Given the description of an element on the screen output the (x, y) to click on. 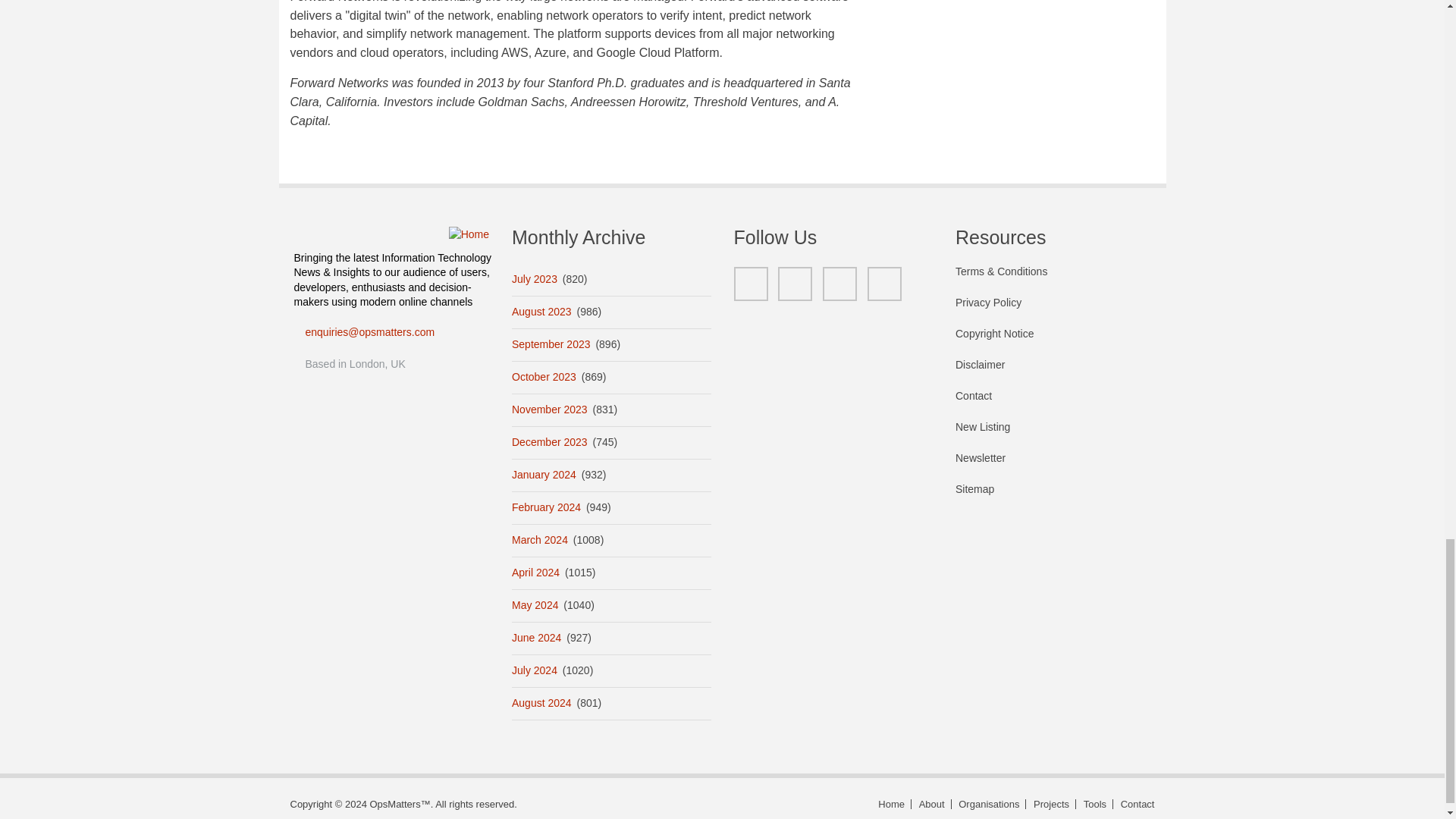
Contact us (1135, 804)
Takes you back to the homepage (892, 804)
Subscribe to our newsletter (1054, 465)
Home (468, 233)
